Given the description of an element on the screen output the (x, y) to click on. 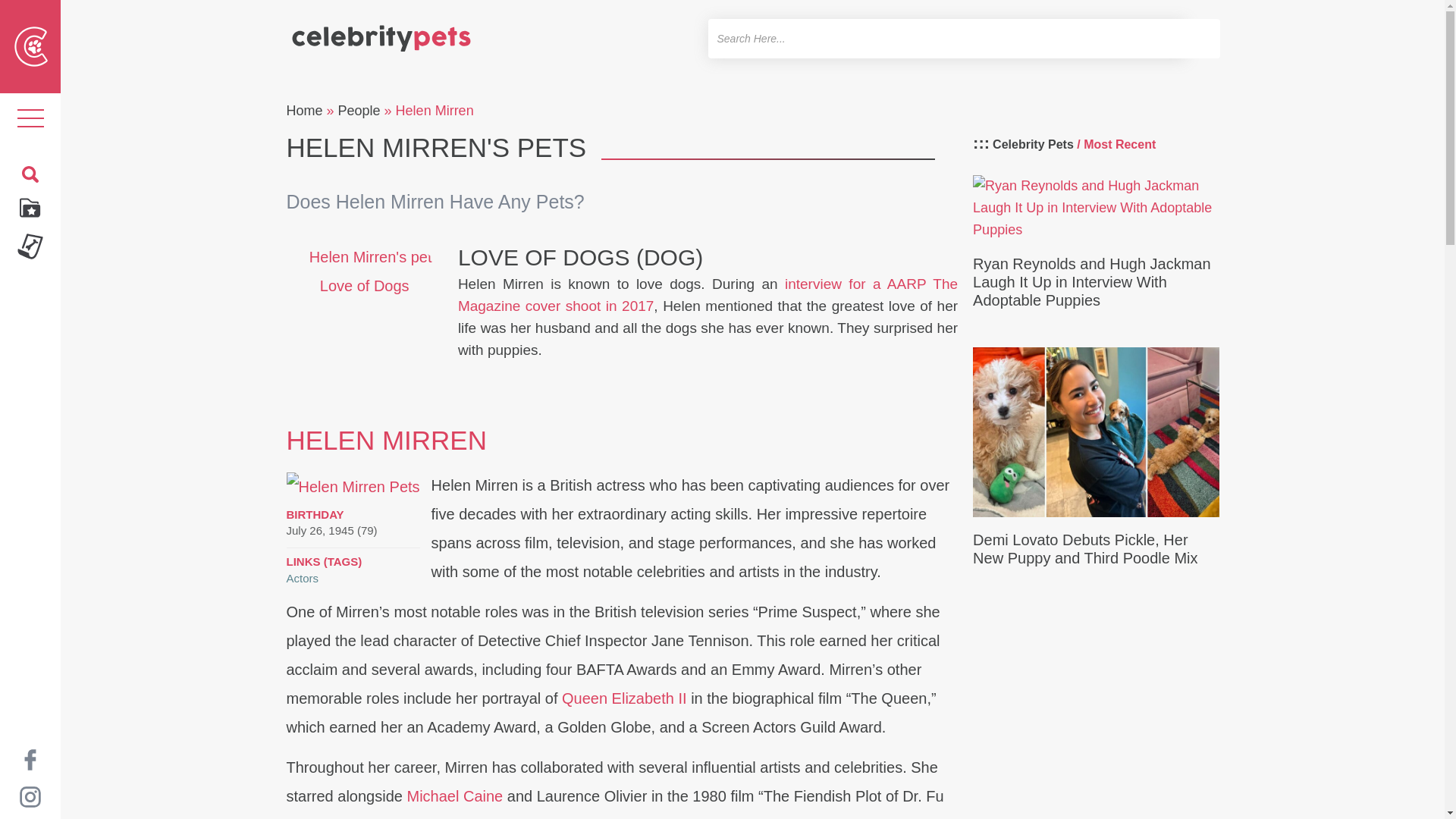
Search for (946, 38)
Celebrty Pets (381, 32)
Celebrity Pets on Facebook (29, 758)
Toggle navigation (29, 117)
Celebrty Pets Icon (31, 45)
Celebrity Pets on Instagram (29, 795)
